Given the description of an element on the screen output the (x, y) to click on. 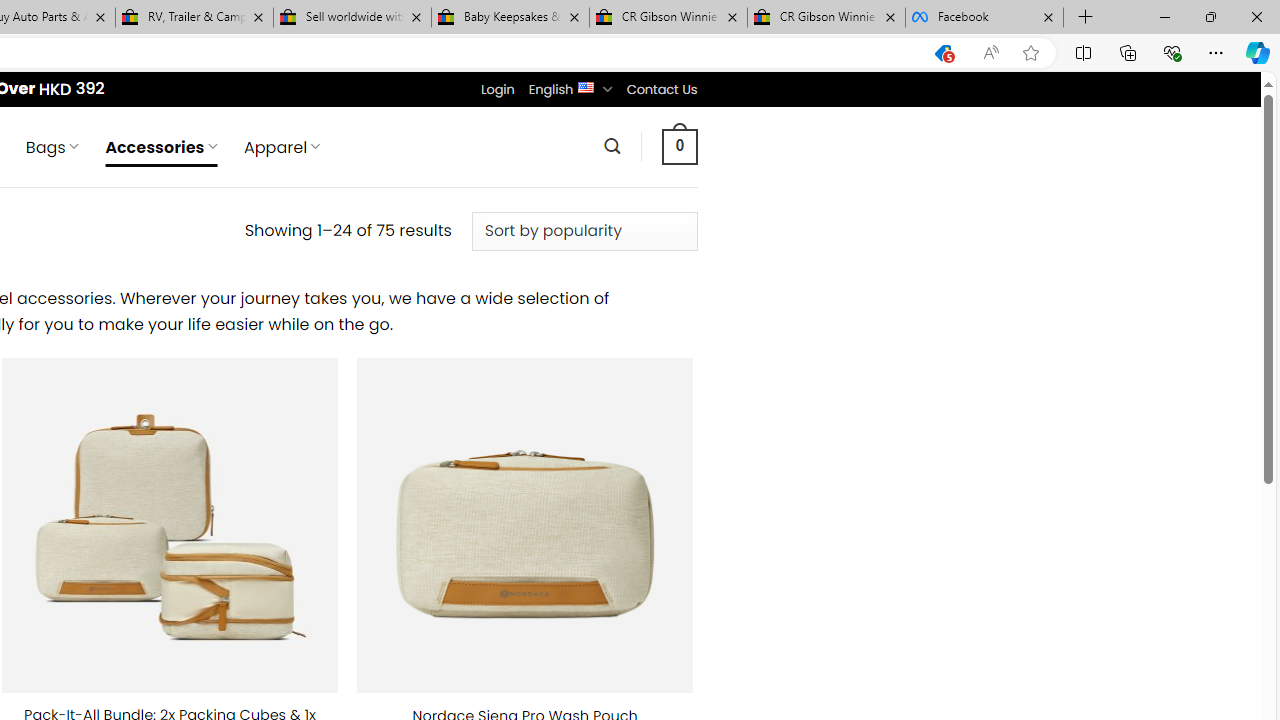
English (586, 86)
RV, Trailer & Camper Steps & Ladders for sale | eBay (194, 17)
This site has coupons! Shopping in Microsoft Edge, 5 (943, 53)
